Given the description of an element on the screen output the (x, y) to click on. 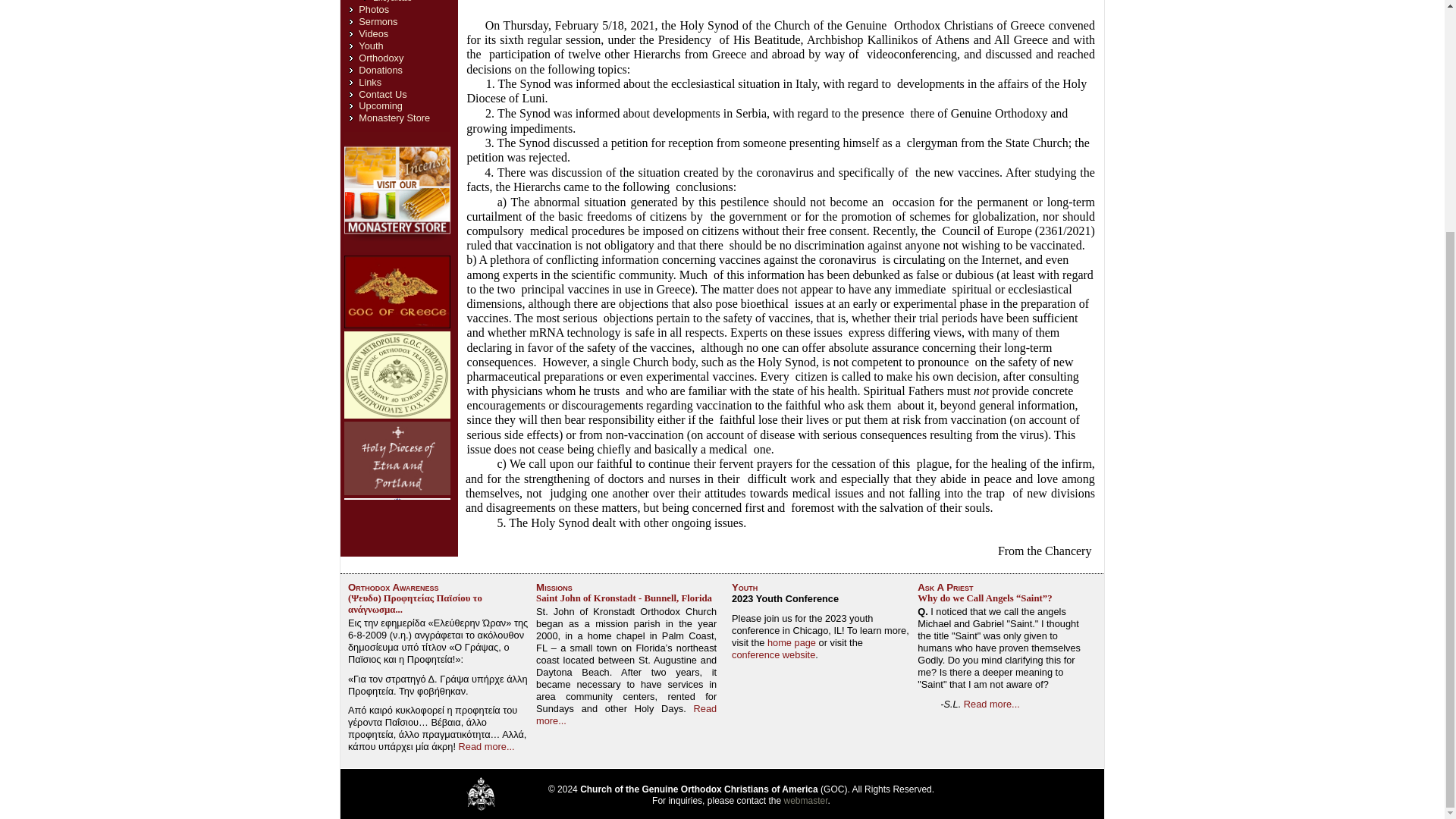
Encyclicals (392, 1)
Donations (380, 70)
Read more... (486, 746)
Youth (744, 586)
Videos (373, 33)
Links (369, 81)
Orthodoxy (380, 57)
Saint John of Kronstadt - Bunnell, Florida (623, 597)
Upcoming (380, 105)
Monastery Store (393, 117)
Sermons (377, 21)
home page (791, 642)
Ask A Priest (944, 586)
Missions (553, 586)
